Given the description of an element on the screen output the (x, y) to click on. 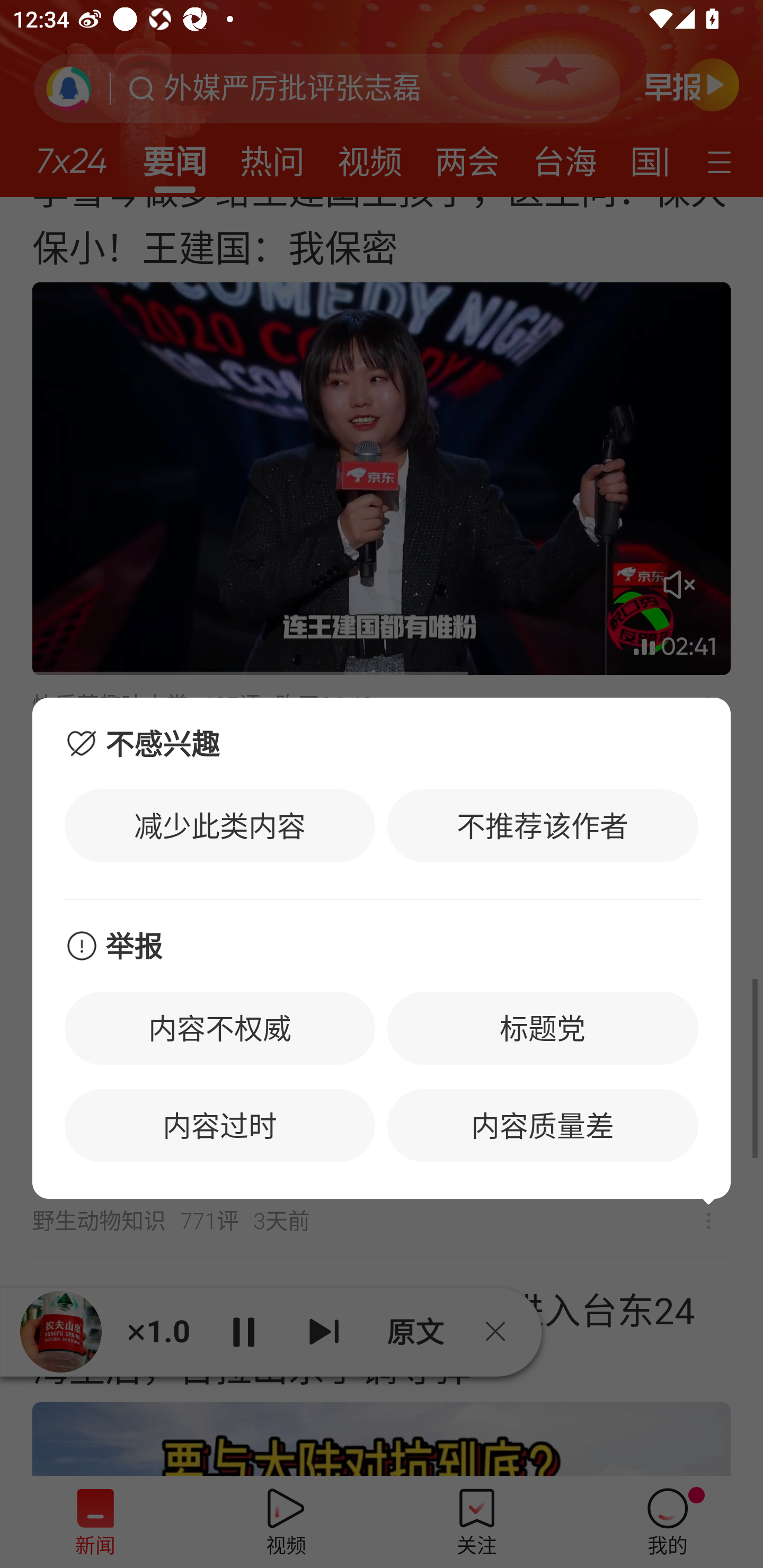
不感兴趣 减少此类内容 不推荐该作者 (381, 797)
减少此类内容 (219, 825)
不推荐该作者 (542, 825)
举报 内容不权威 标题党 内容过时 内容质量差 (381, 1049)
内容不权威 (219, 1027)
标题党 (542, 1027)
内容过时 (219, 1125)
内容质量差 (542, 1125)
